Given the description of an element on the screen output the (x, y) to click on. 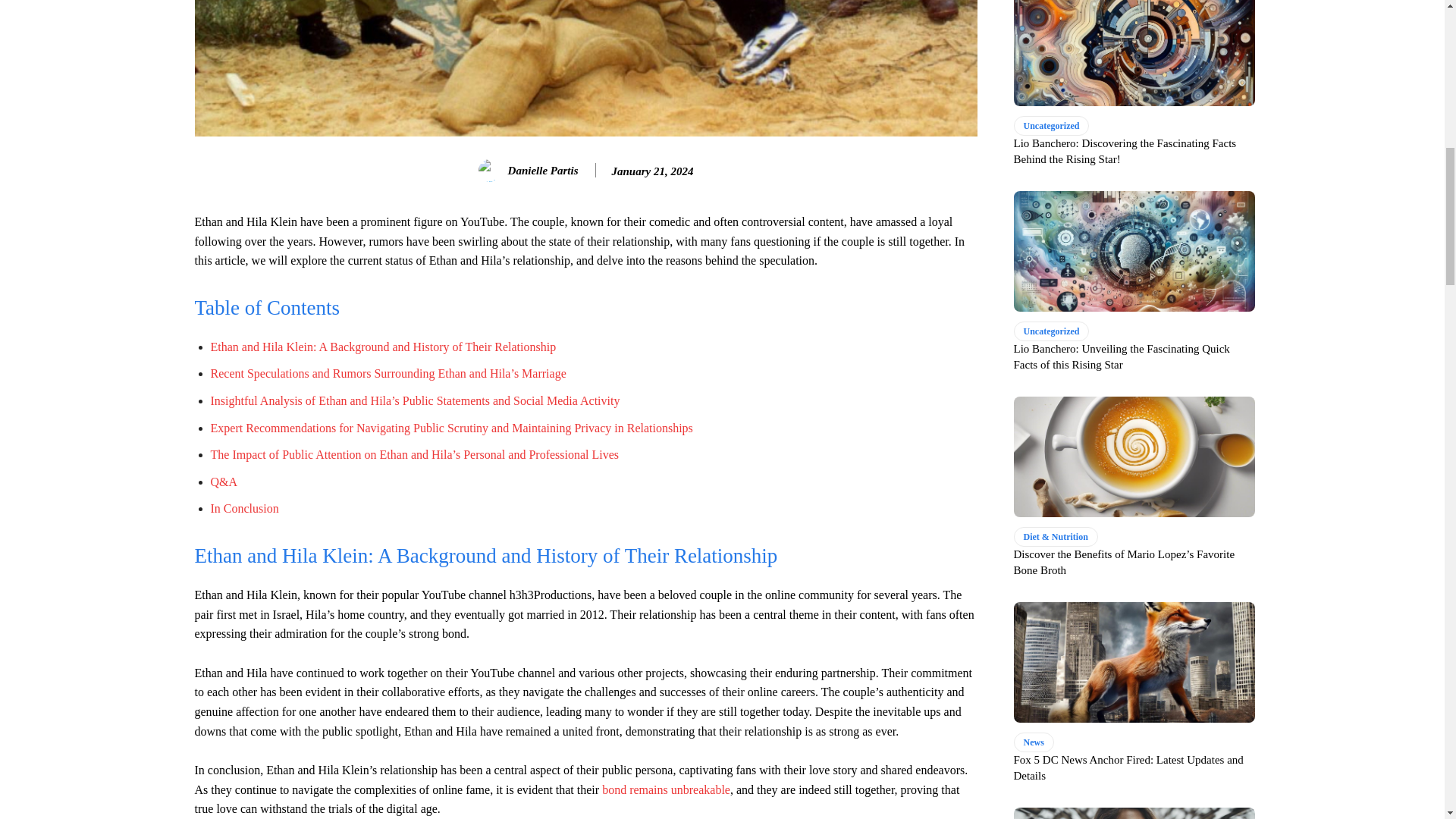
are-ethan-and-hila-still-together-heres-the-truth.jpg (584, 68)
Melissa Magee Husband: Ronnie Schlemmer Biography (666, 789)
Danielle Partis (492, 169)
